Given the description of an element on the screen output the (x, y) to click on. 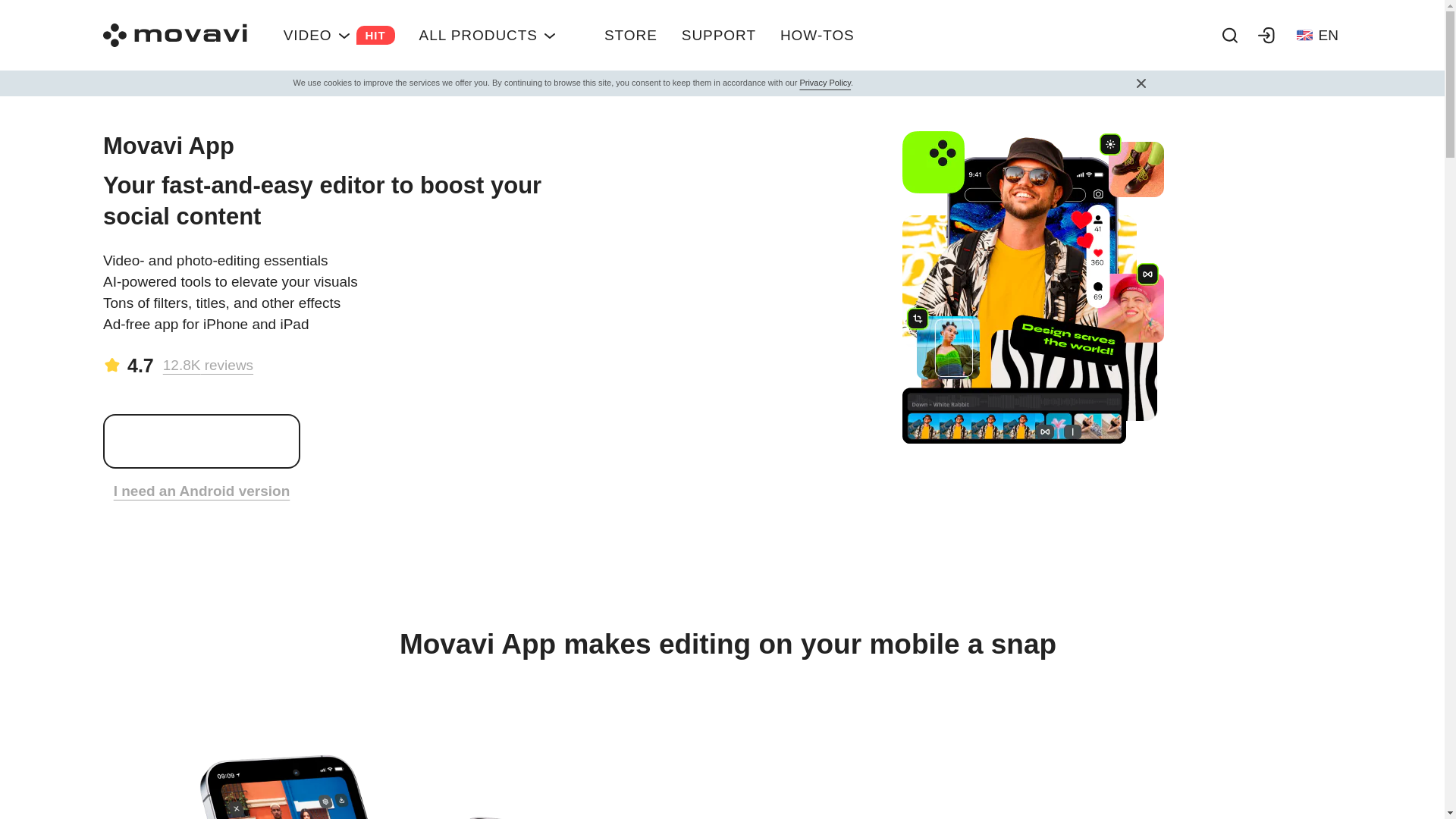
SUPPORT (718, 35)
ALL PRODUCTS (338, 365)
Privacy Policy (488, 35)
HOW-TOS (824, 81)
EN (817, 35)
STORE (1317, 35)
I need an Android version (630, 35)
